Given the description of an element on the screen output the (x, y) to click on. 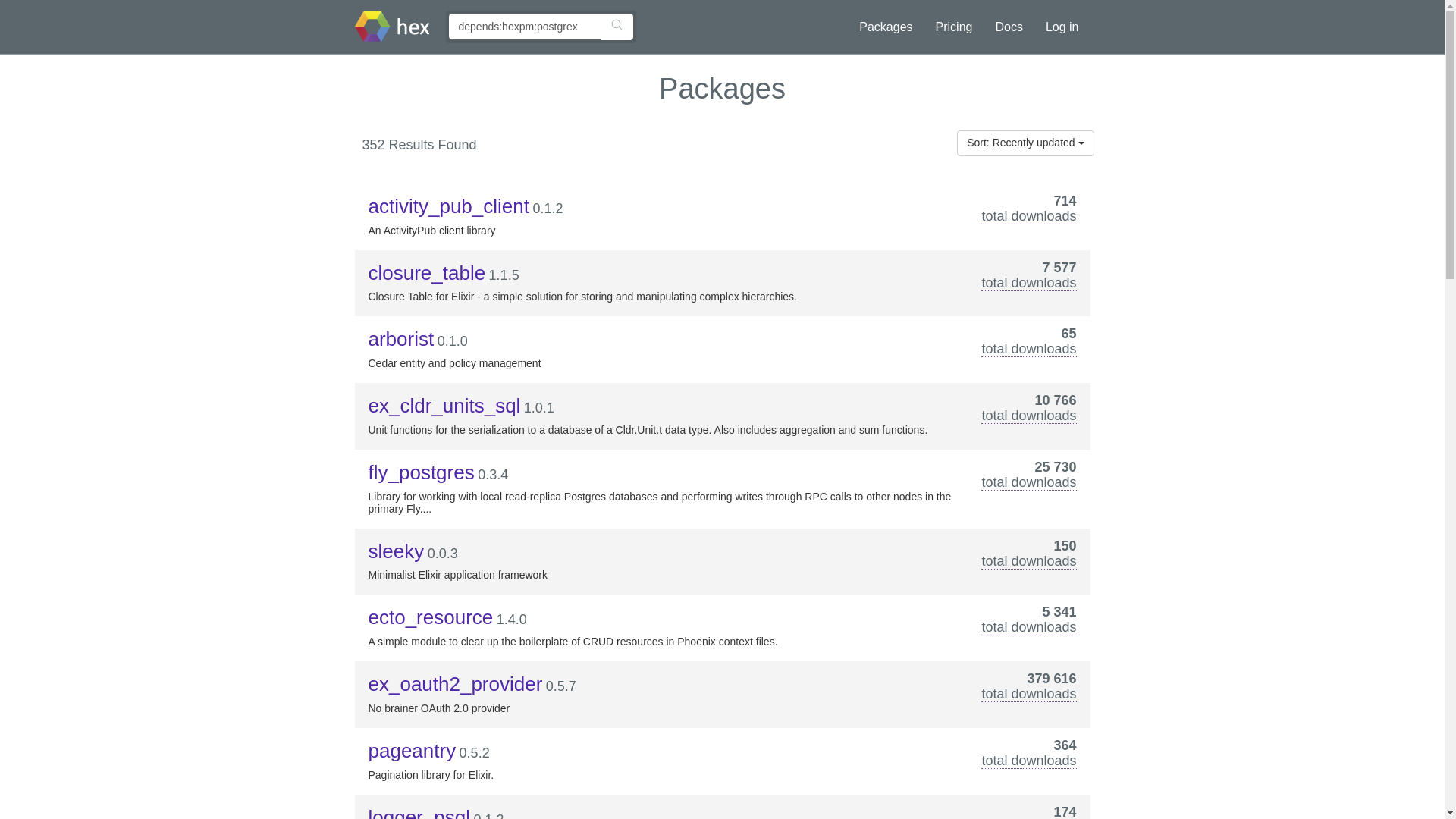
Pricing (954, 26)
sleeky (396, 550)
pageantry (412, 750)
depends:hexpm:postgrex (524, 26)
arborist (400, 338)
magnifying-glass (616, 24)
magnifying-glass (616, 24)
Docs (1008, 26)
Packages (885, 26)
Sort: Recently updated (1024, 143)
Log in (1061, 26)
